Given the description of an element on the screen output the (x, y) to click on. 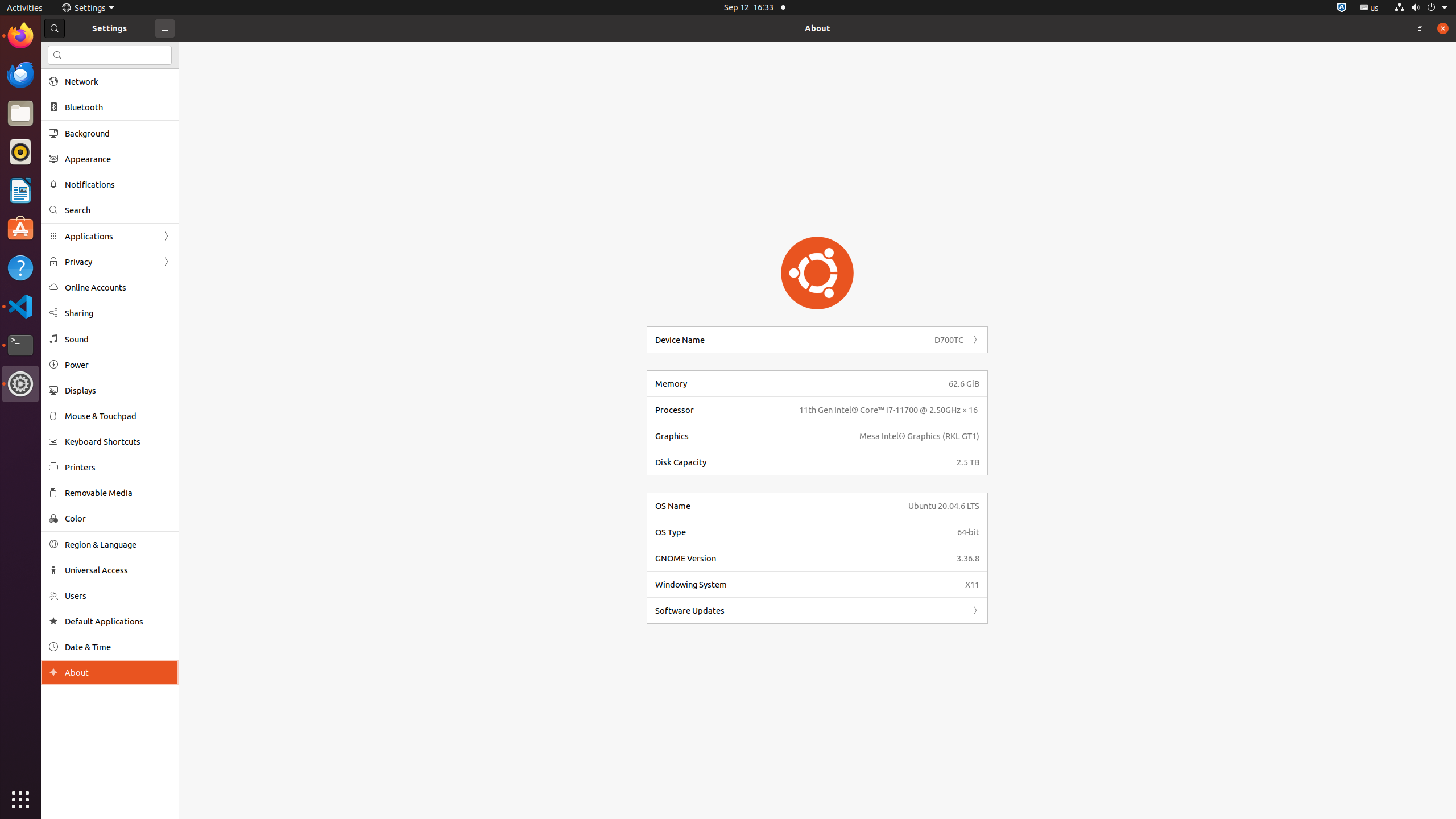
Minimize Element type: push-button (1397, 27)
Applications Element type: label (109, 236)
